Given the description of an element on the screen output the (x, y) to click on. 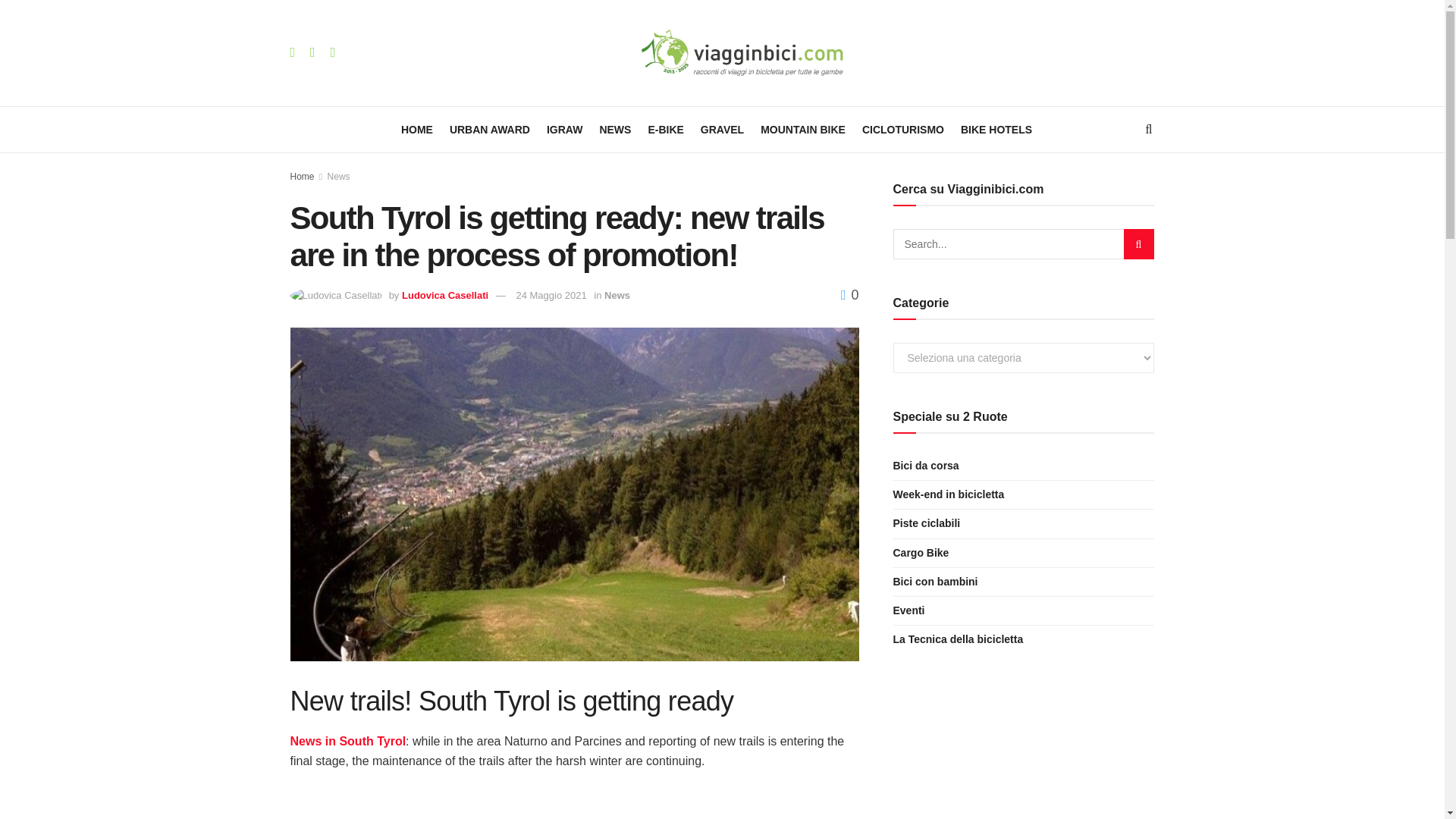
HOME (416, 129)
BIKE HOTELS (996, 129)
Ludovica Casellati (444, 295)
E-BIKE (664, 129)
24 Maggio 2021 (550, 295)
News (617, 295)
0 (850, 294)
URBAN AWARD (489, 129)
GRAVEL (722, 129)
News in South Tyrol (347, 740)
MOUNTAIN BIKE (802, 129)
IGRAW (564, 129)
Home (301, 176)
News (338, 176)
NEWS (614, 129)
